Given the description of an element on the screen output the (x, y) to click on. 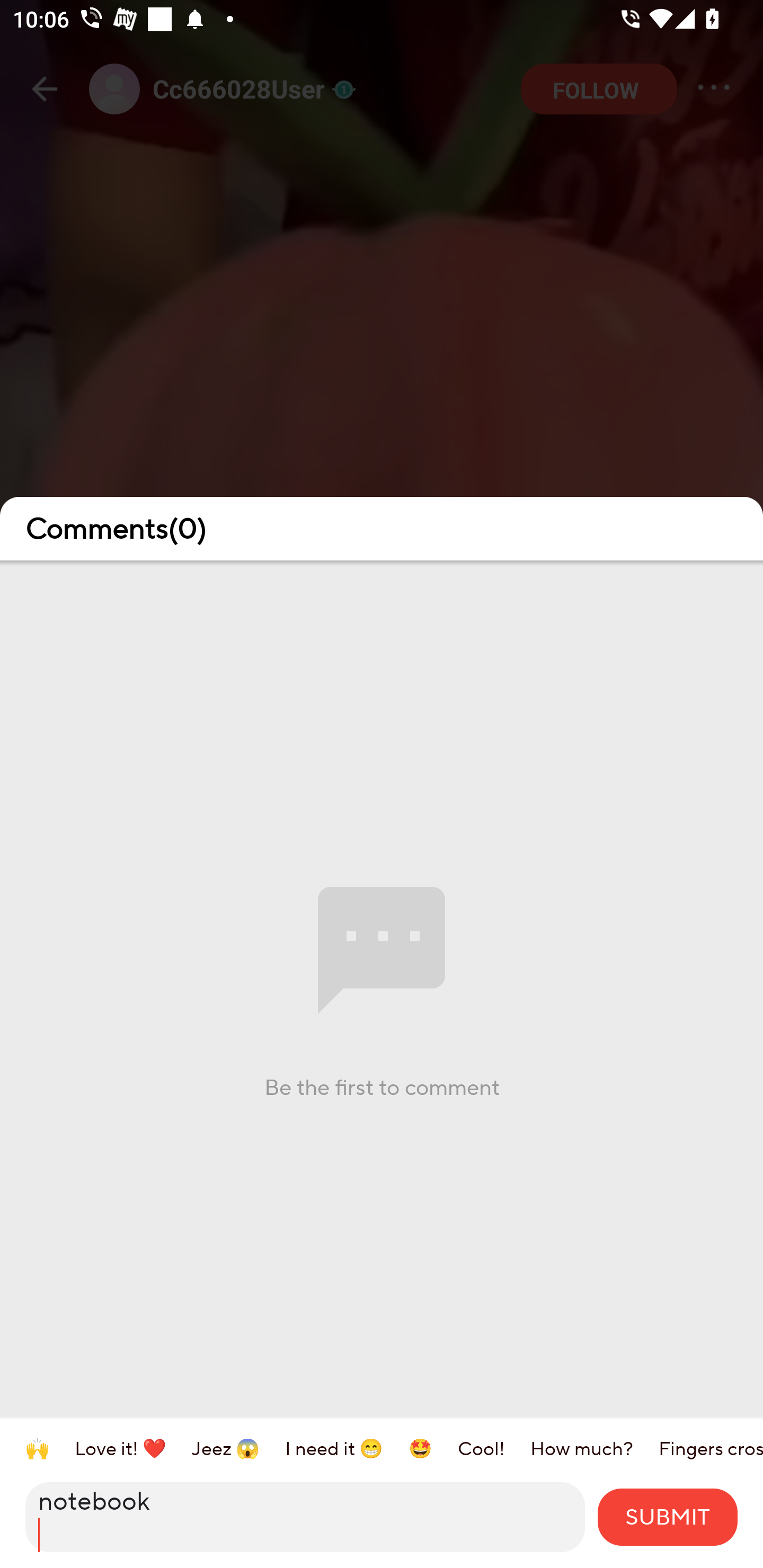
🙌 (49, 1447)
Love it! ❤️ (132, 1447)
Jeez 😱 (238, 1447)
I need it 😁 (346, 1447)
🤩 (432, 1447)
Cool! (493, 1447)
How much? (594, 1447)
Fingers crossed 🤞 (710, 1447)
notebook
 (305, 1516)
SUBMIT (667, 1517)
